Given the description of an element on the screen output the (x, y) to click on. 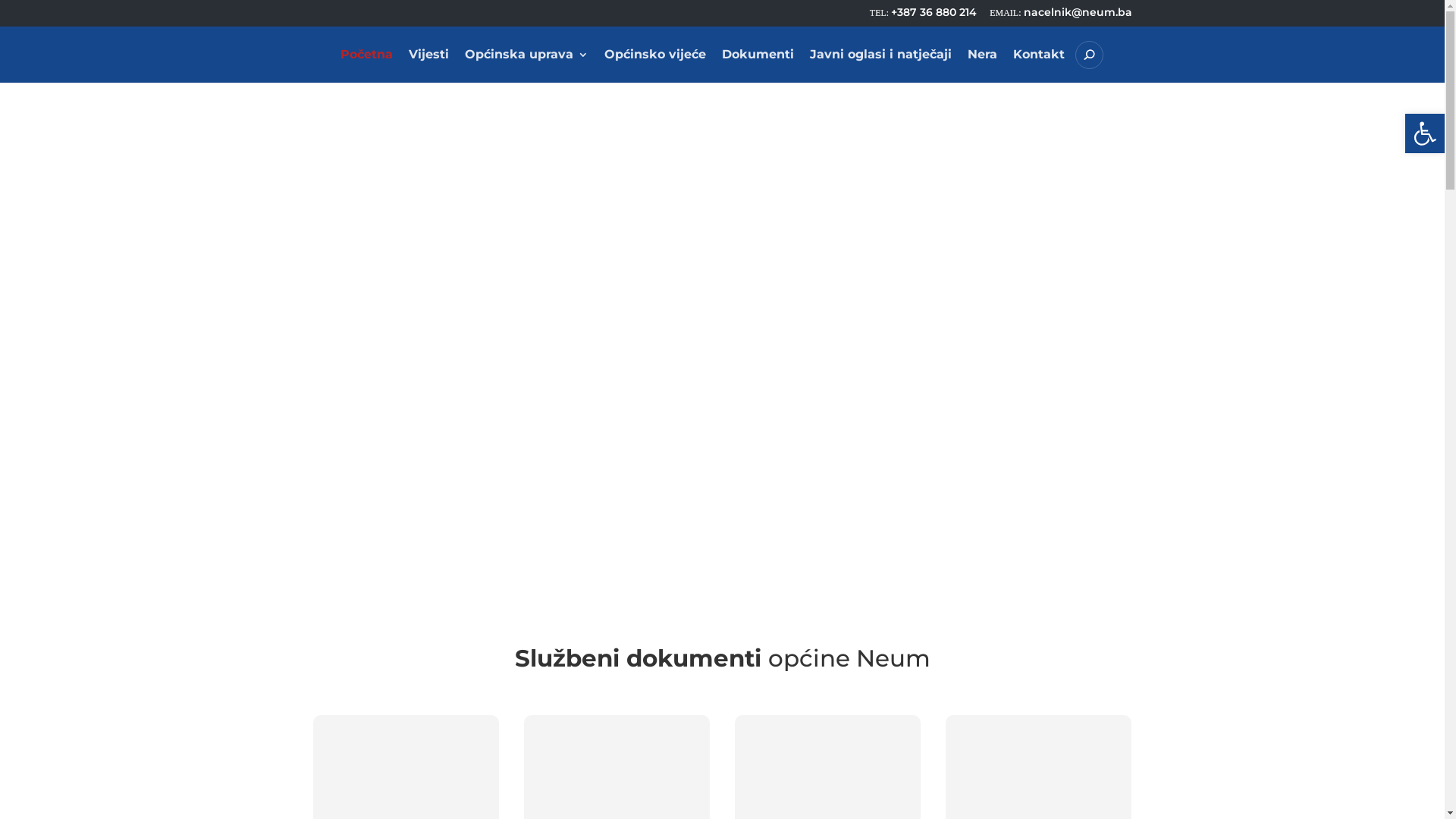
nacelnik@neum.ba Element type: text (1060, 11)
Nera Element type: text (982, 65)
Vijesti Element type: text (427, 65)
Kontakt Element type: text (1038, 65)
Dokumenti Element type: text (757, 65)
